Given the description of an element on the screen output the (x, y) to click on. 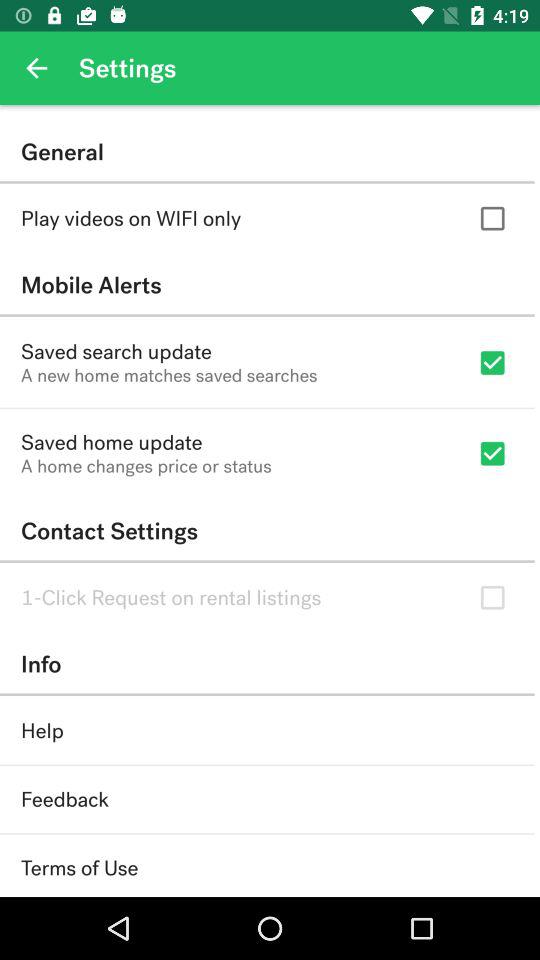
flip to contact settings item (267, 530)
